Given the description of an element on the screen output the (x, y) to click on. 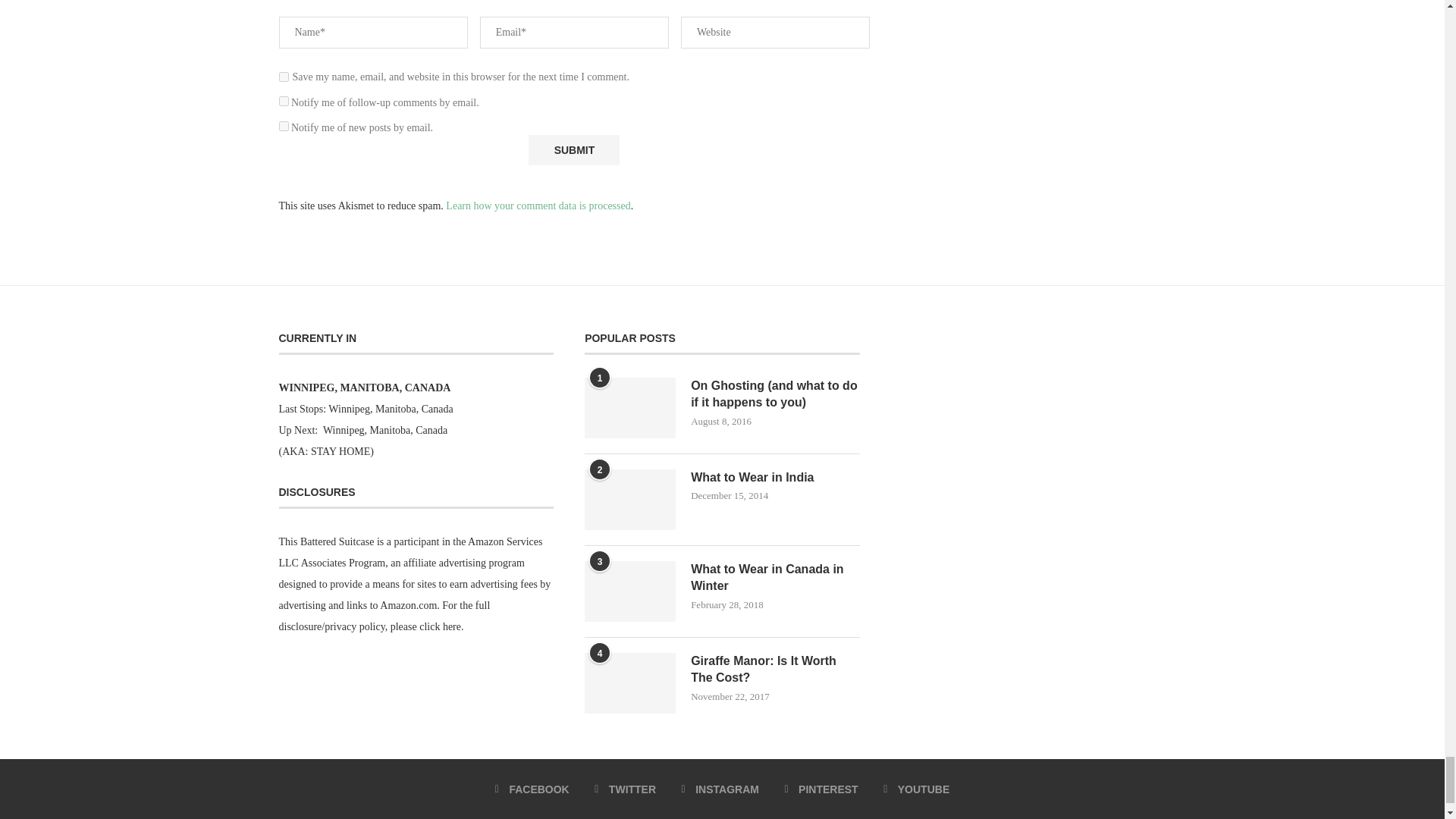
Submit (574, 150)
subscribe (283, 101)
yes (283, 76)
subscribe (283, 126)
